Given the description of an element on the screen output the (x, y) to click on. 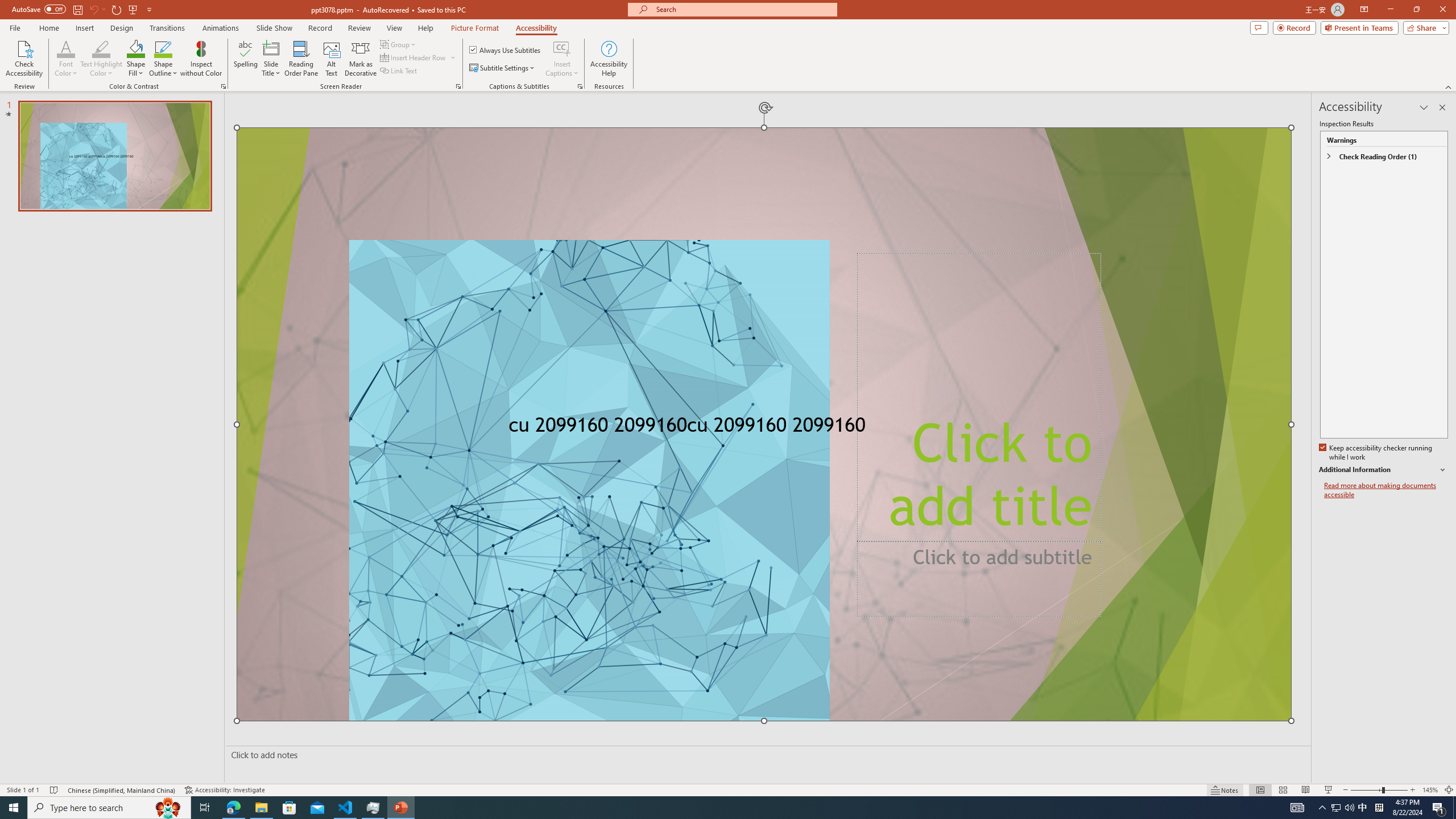
Mark as Decorative (360, 58)
Screen Reader (458, 85)
